Given the description of an element on the screen output the (x, y) to click on. 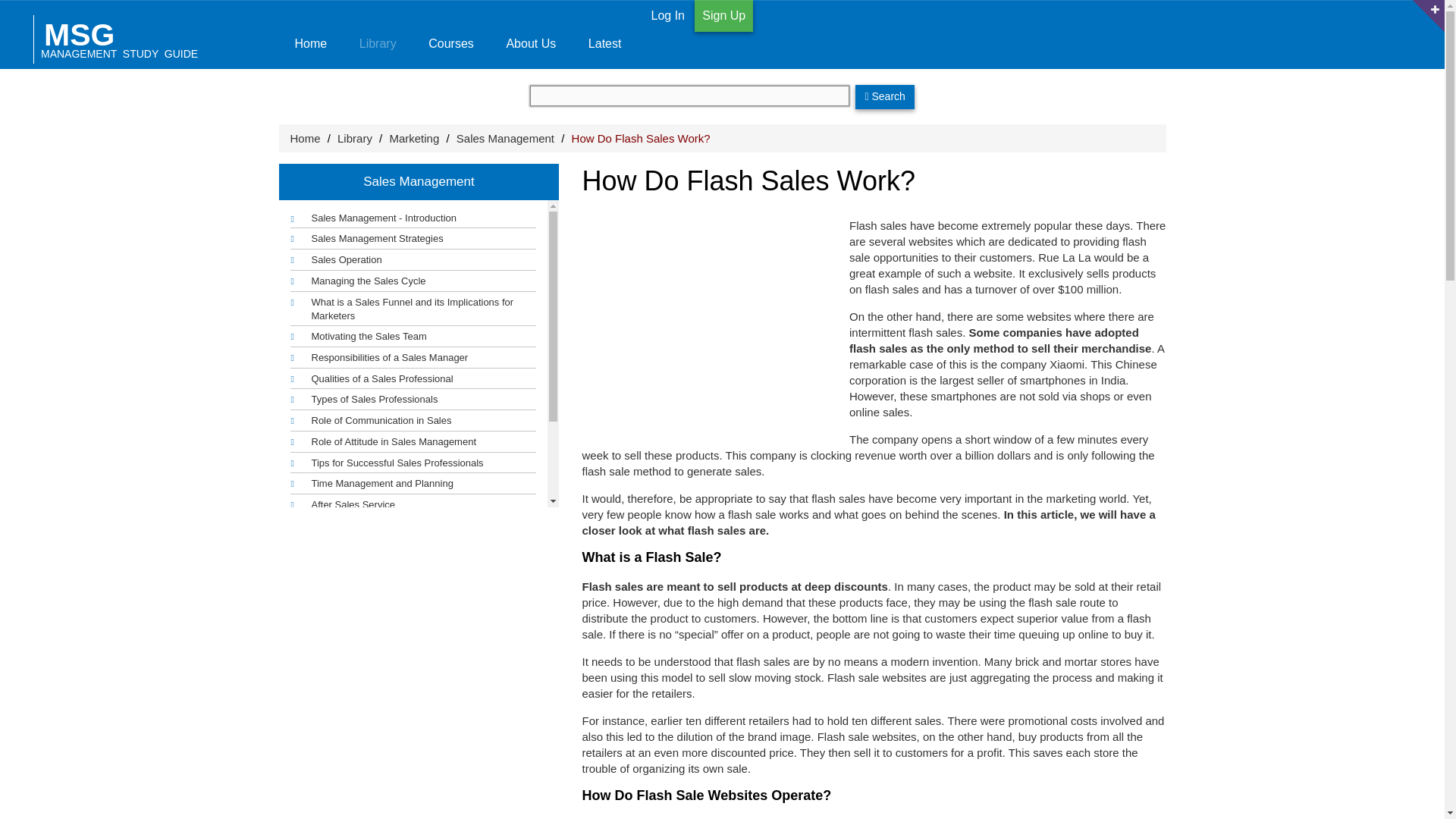
Sign Up (723, 15)
Home (304, 137)
Latest (604, 34)
Sales Management (505, 137)
Managing the Sales Cycle (357, 281)
Library (377, 34)
Sales Management - Introduction (120, 38)
Sales Operation (373, 220)
This page contains information on After Sales Service (335, 260)
About Us (341, 505)
Sign Up (530, 34)
